Given the description of an element on the screen output the (x, y) to click on. 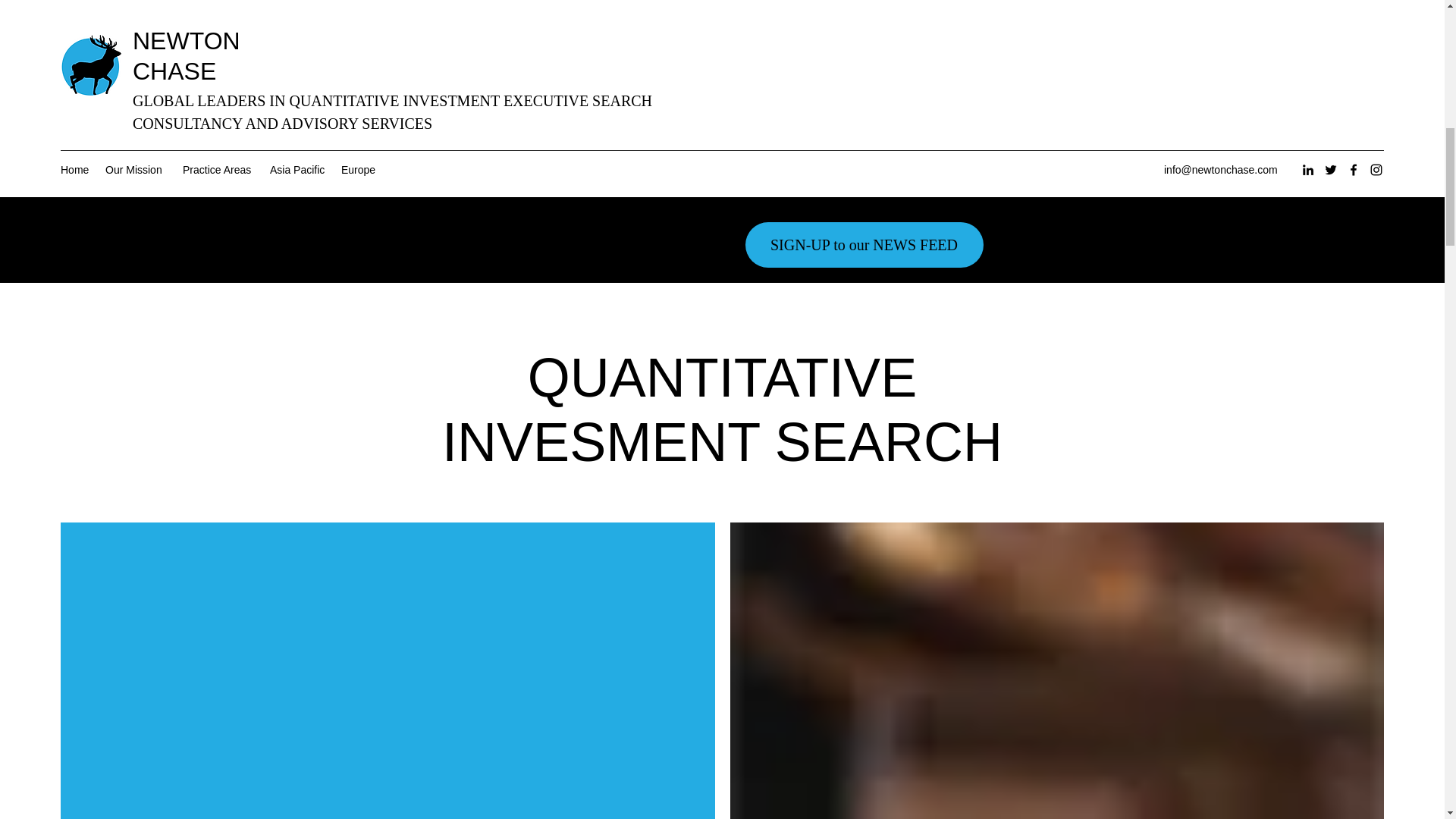
SIGN-UP to our NEWS FEED (863, 244)
